Given the description of an element on the screen output the (x, y) to click on. 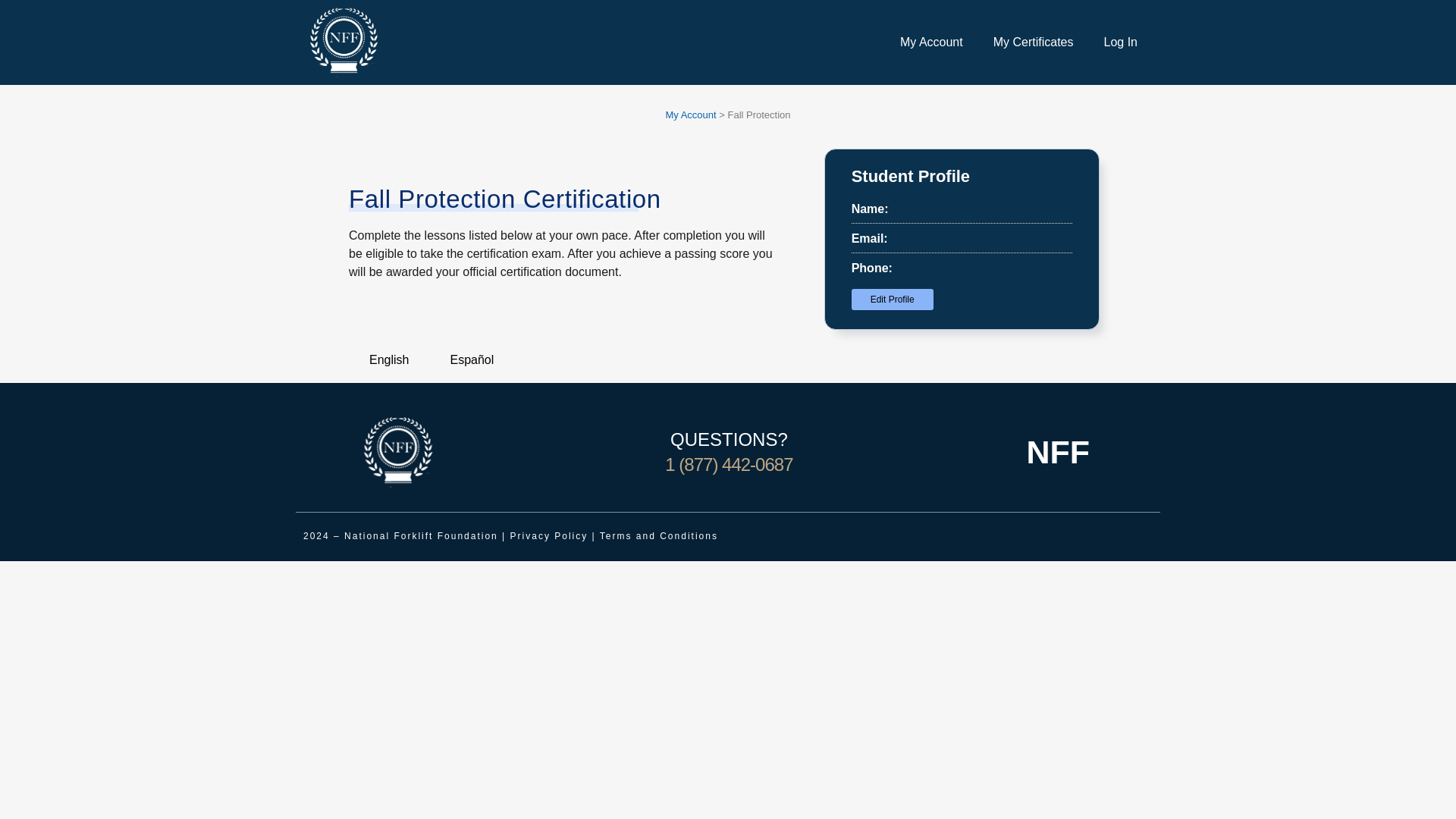
Terms and Conditions (658, 535)
Log In (1121, 42)
Privacy Policy (549, 535)
My Account (931, 42)
My Certificates (1033, 42)
Edit Profile (892, 299)
My Account (690, 114)
